Given the description of an element on the screen output the (x, y) to click on. 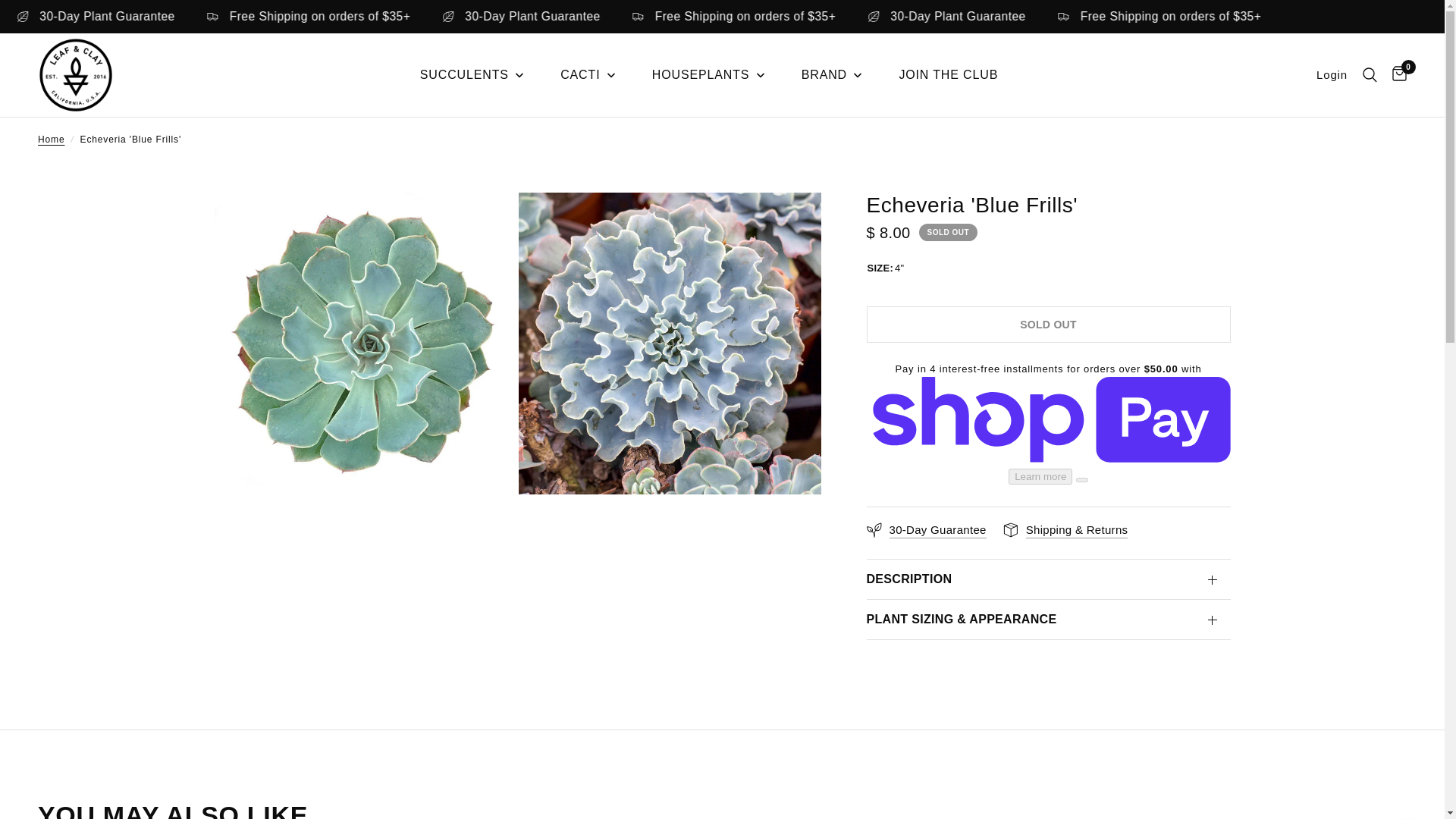
HOUSEPLANTS (708, 75)
Home (50, 139)
Home (50, 139)
BRAND (833, 75)
0 (1395, 75)
My Account (1331, 75)
CACTI (588, 75)
SOLD OUT (1048, 324)
SUCCULENTS (473, 75)
30-Day Guarantee (925, 529)
Login (1331, 75)
Search (1369, 75)
JOIN THE CLUB (947, 75)
